Given the description of an element on the screen output the (x, y) to click on. 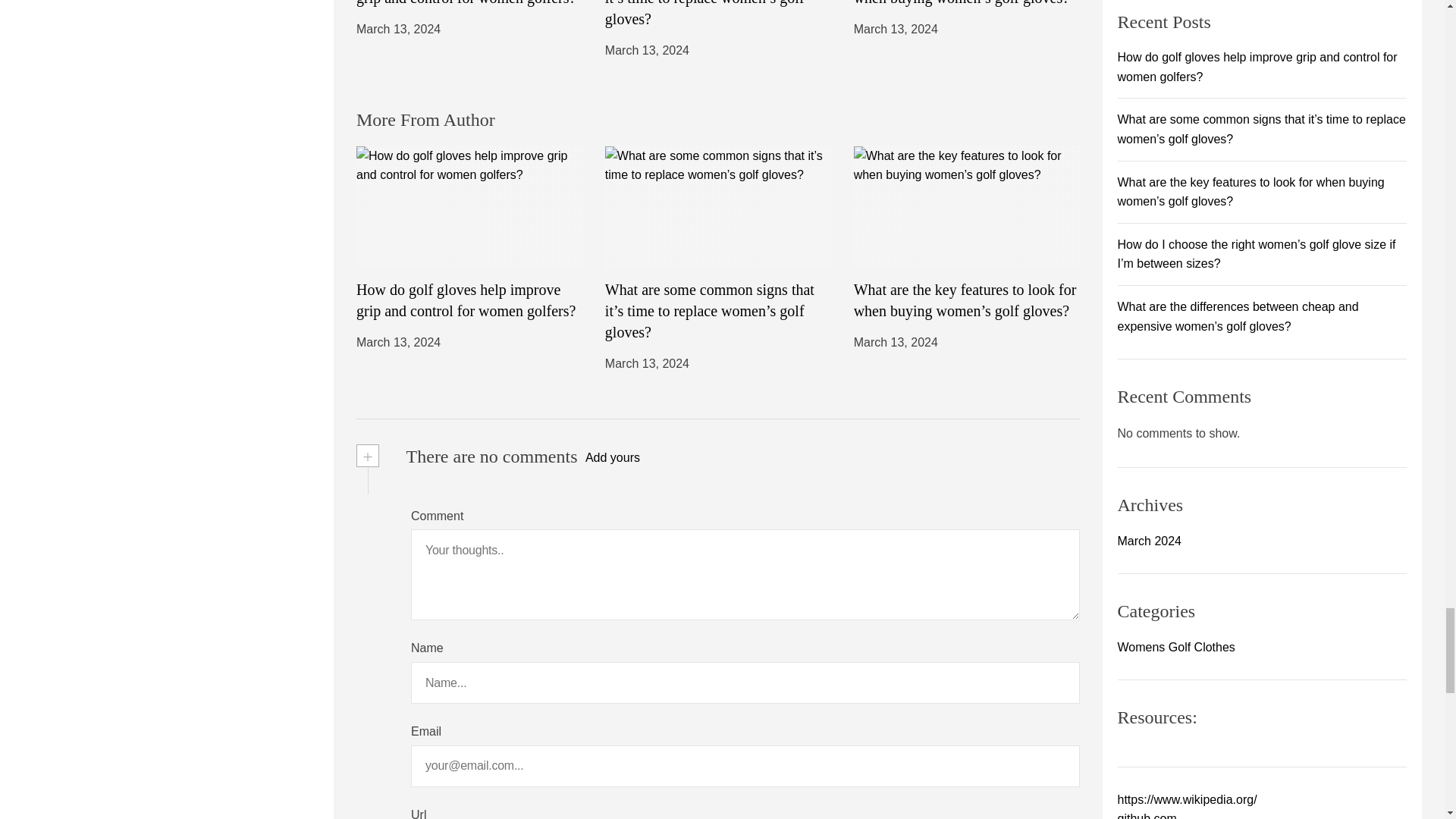
Add yours (612, 457)
